Given the description of an element on the screen output the (x, y) to click on. 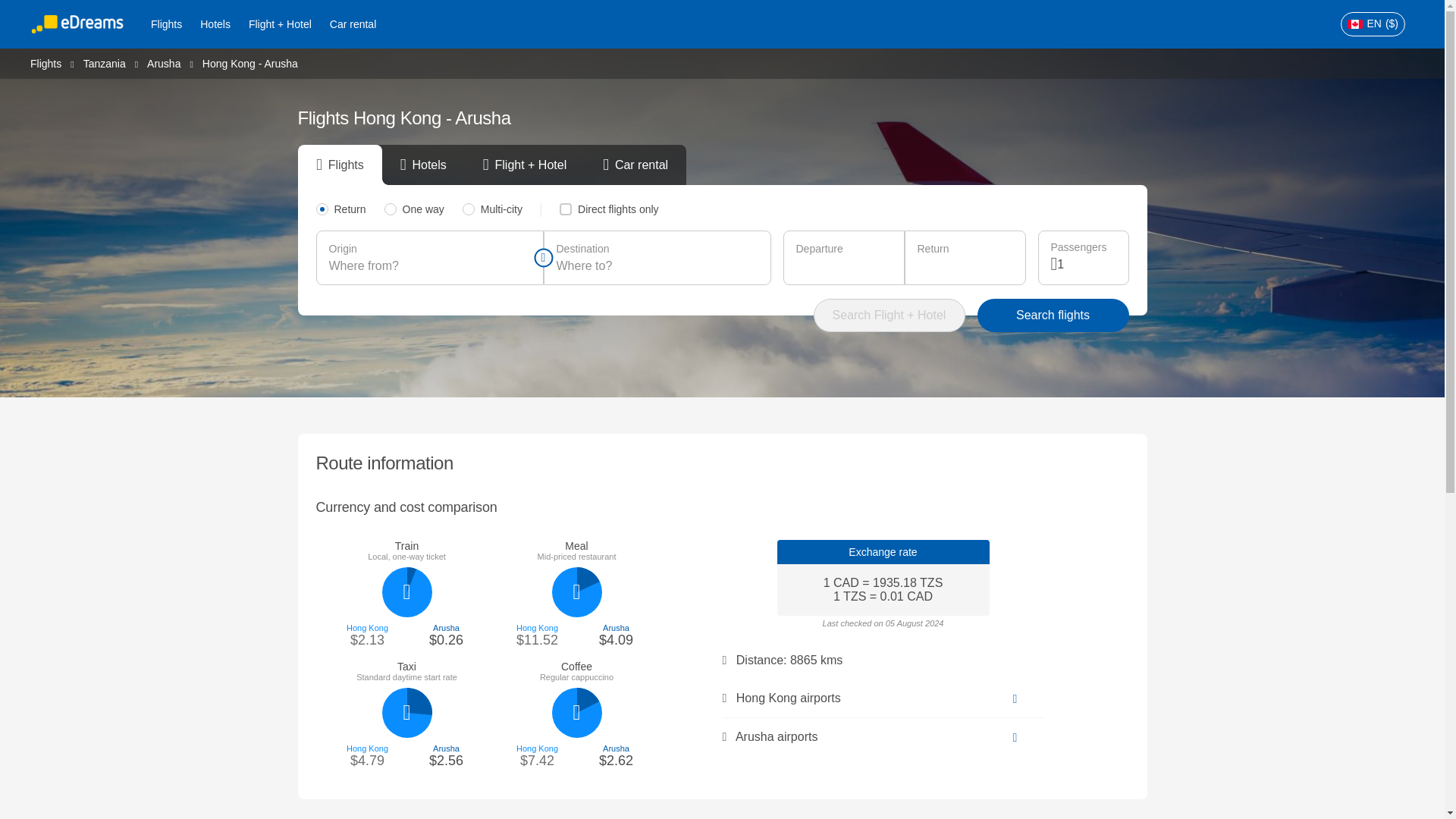
Hong Kong - Arusha (250, 63)
Flights (45, 62)
Search flights (1052, 315)
Car rental (352, 24)
Flights (165, 24)
Hotels (215, 24)
Arusha (163, 62)
Tanzania (103, 62)
1 (1086, 263)
